Given the description of an element on the screen output the (x, y) to click on. 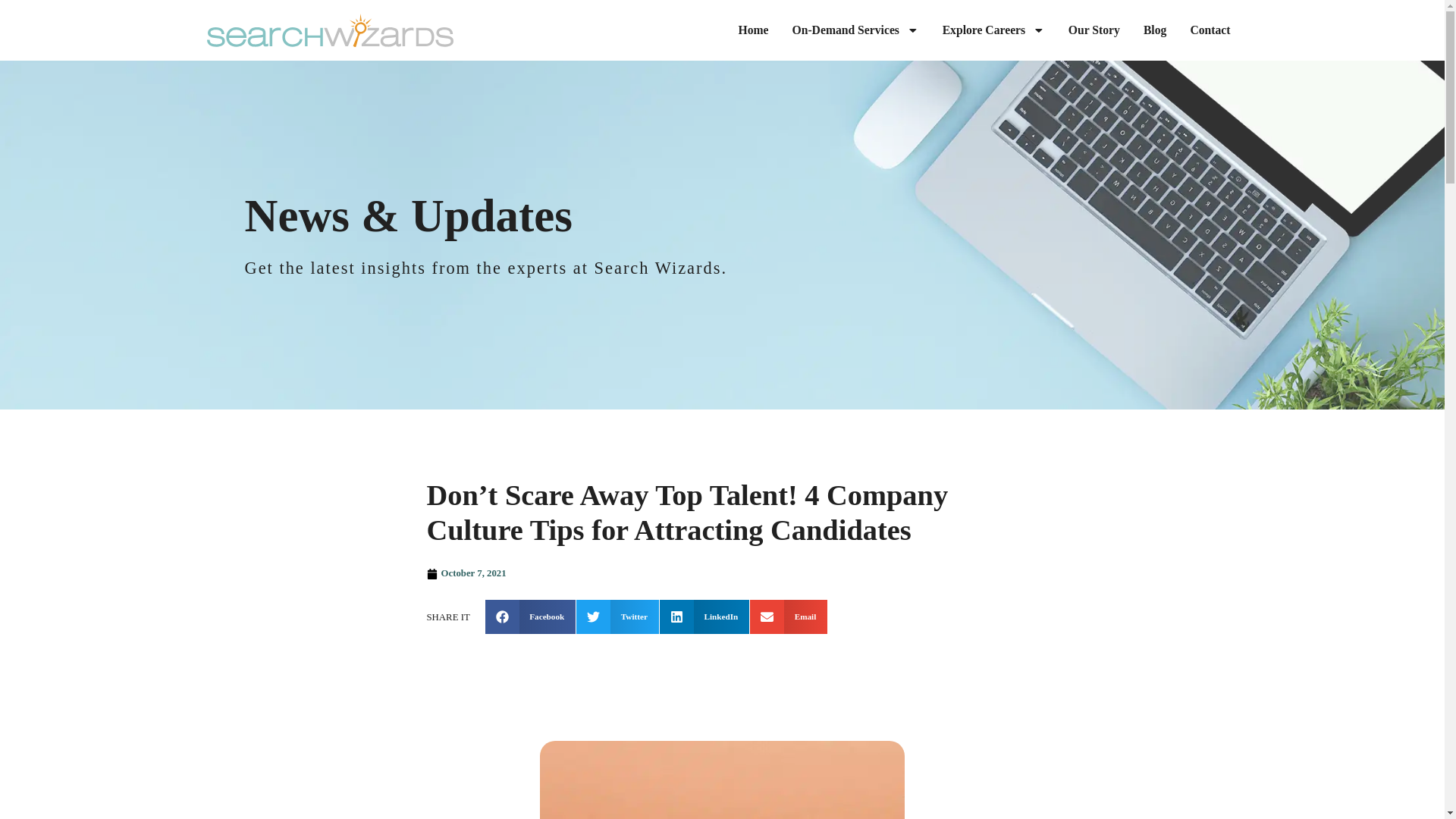
On-Demand Services (855, 29)
Home (753, 29)
Explore Careers (993, 29)
Contact (1209, 29)
Blog (1154, 29)
Our Story (1093, 29)
